Given the description of an element on the screen output the (x, y) to click on. 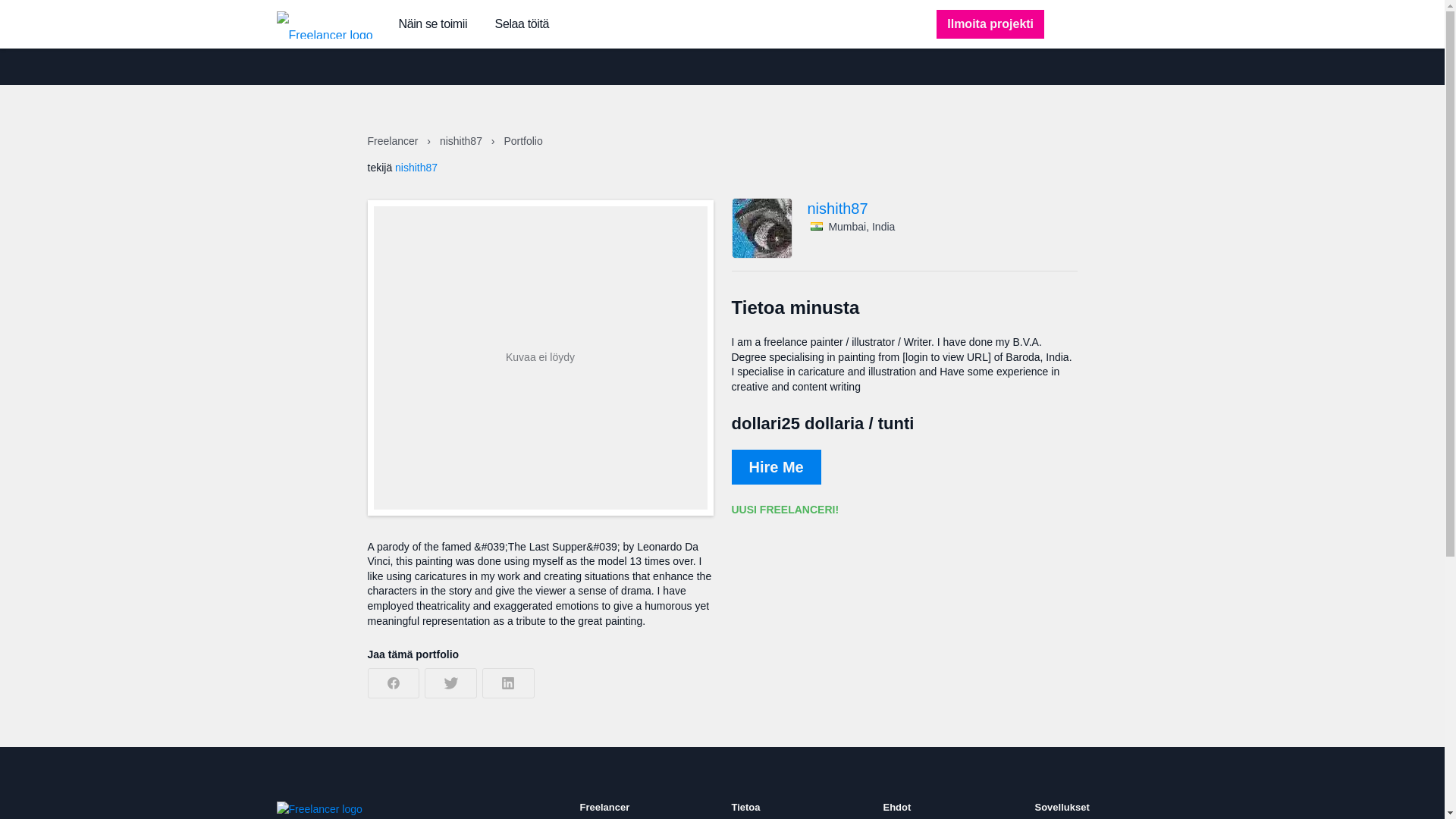
nishith87 (941, 208)
Freelancer (393, 141)
Portfolio (522, 141)
Jaa Facebookissa (392, 683)
nishith87 (416, 167)
Flag of India (815, 225)
nishith87 (461, 141)
Hire Me (775, 466)
Ilmoita projekti (989, 23)
